Given the description of an element on the screen output the (x, y) to click on. 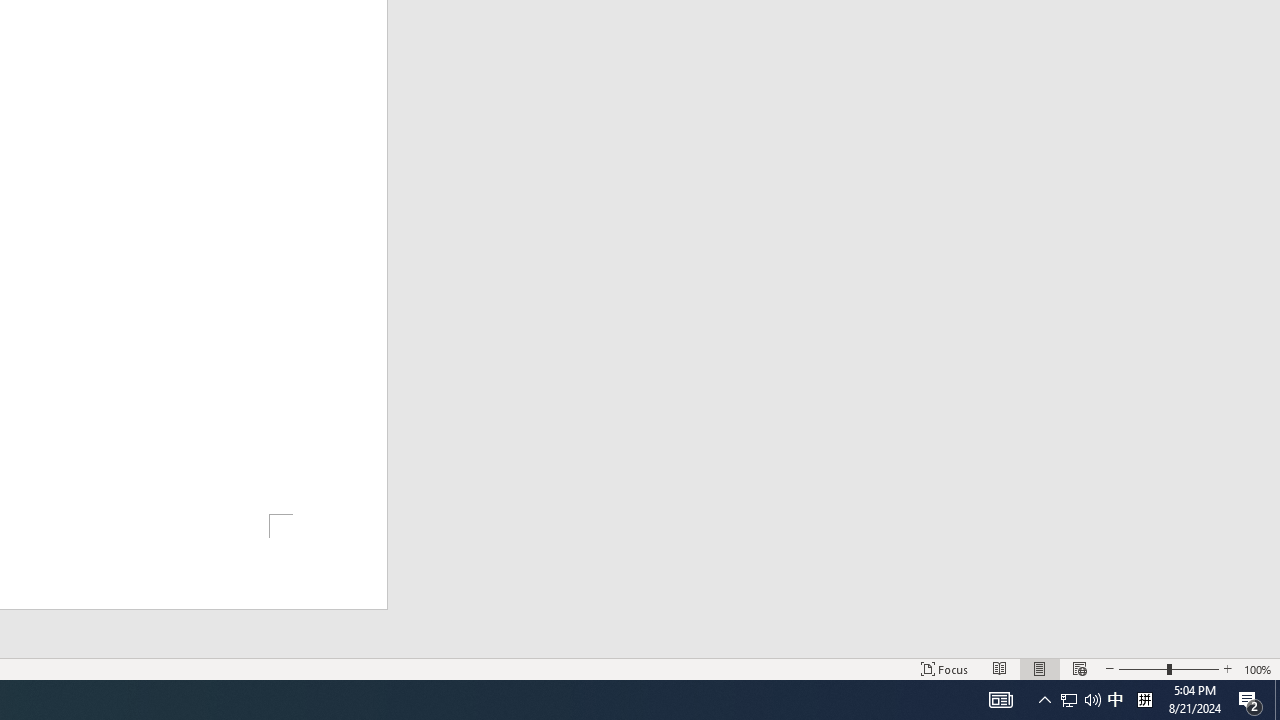
Zoom 100% (1258, 668)
